Given the description of an element on the screen output the (x, y) to click on. 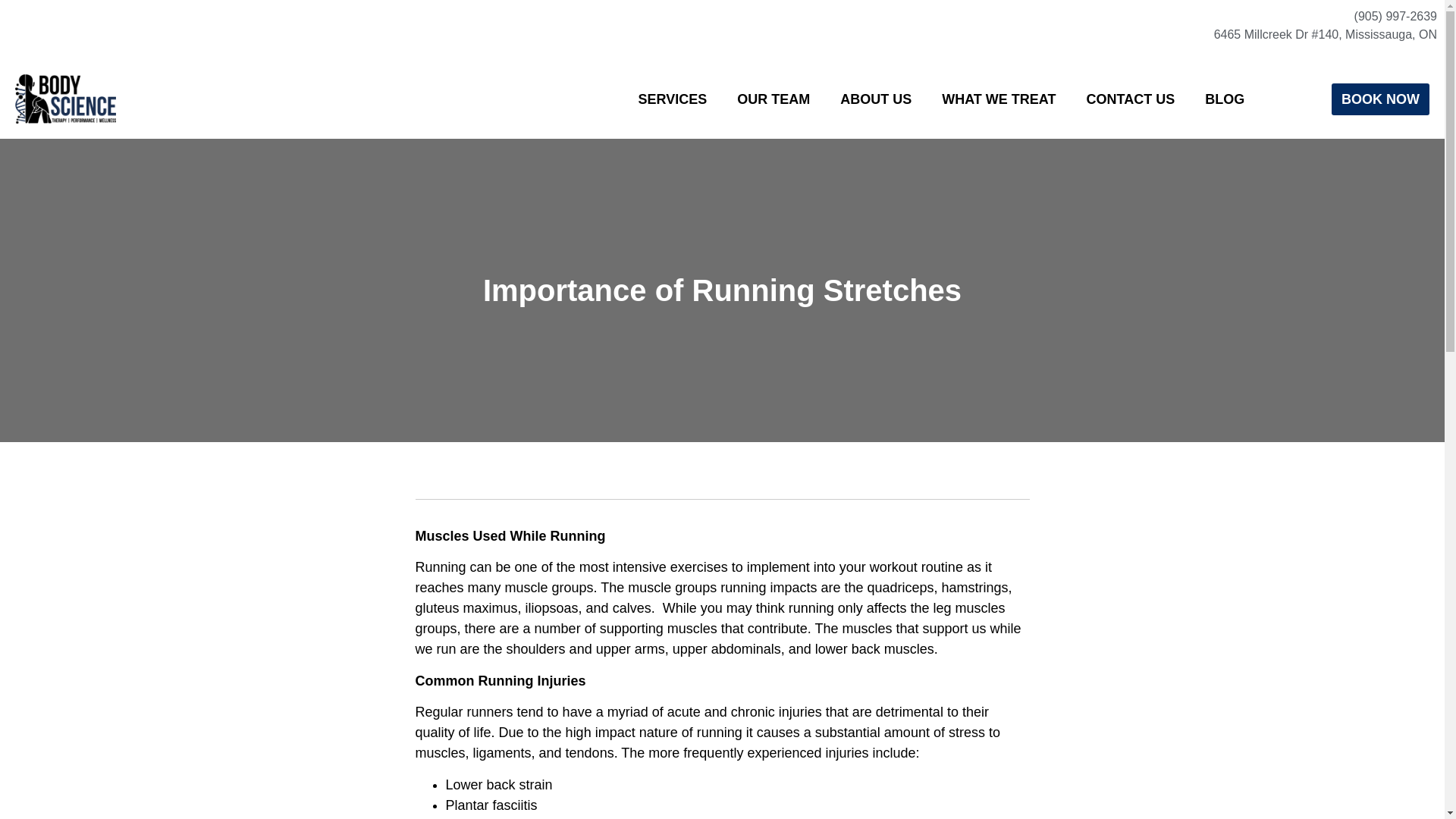
OUR TEAM (773, 99)
WHAT WE TREAT (998, 99)
SERVICES (672, 99)
BLOG (1224, 99)
CONTACT US (1131, 99)
ABOUT US (875, 99)
